Given the description of an element on the screen output the (x, y) to click on. 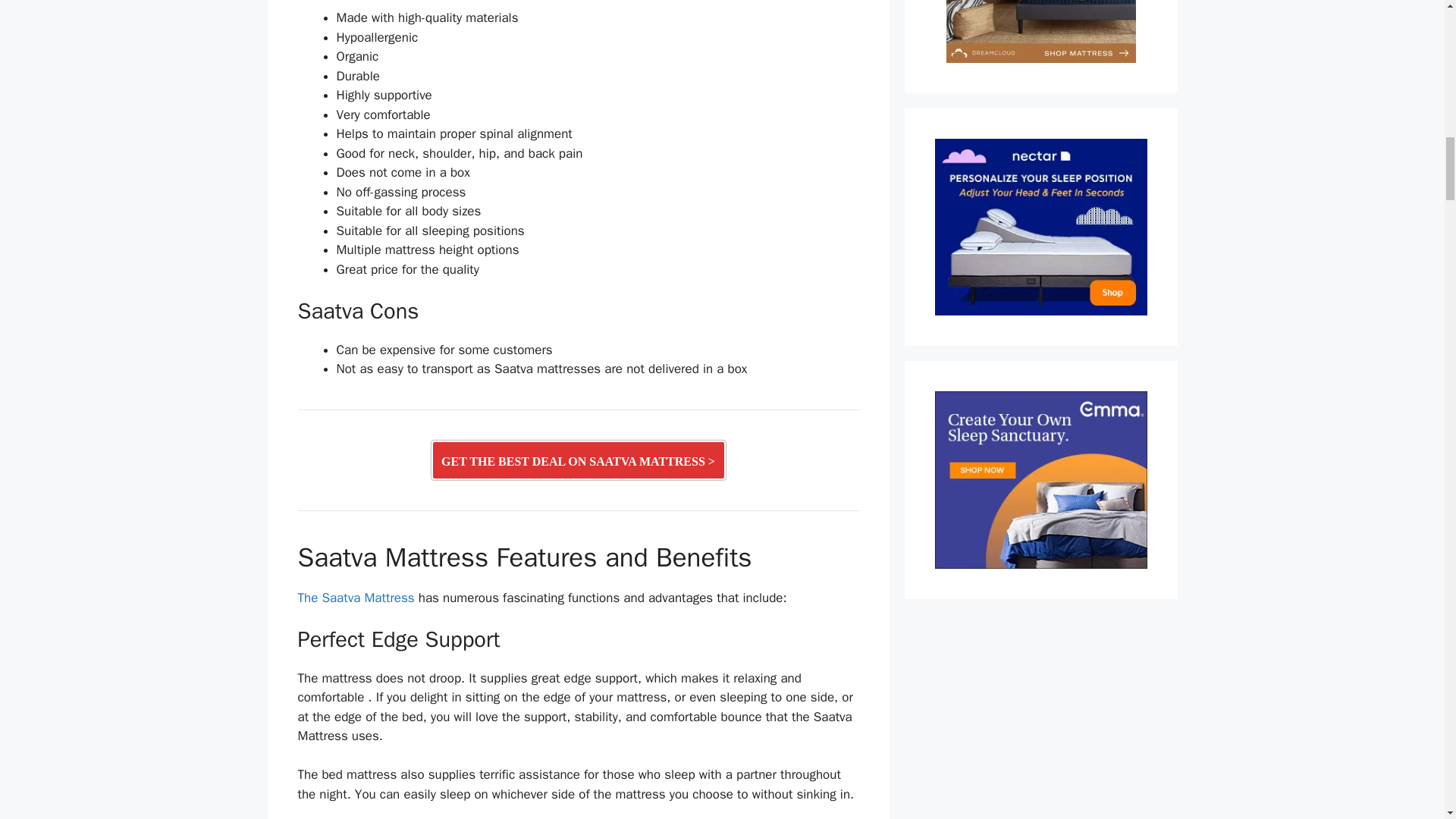
The Saatva Mattress (355, 597)
